Given the description of an element on the screen output the (x, y) to click on. 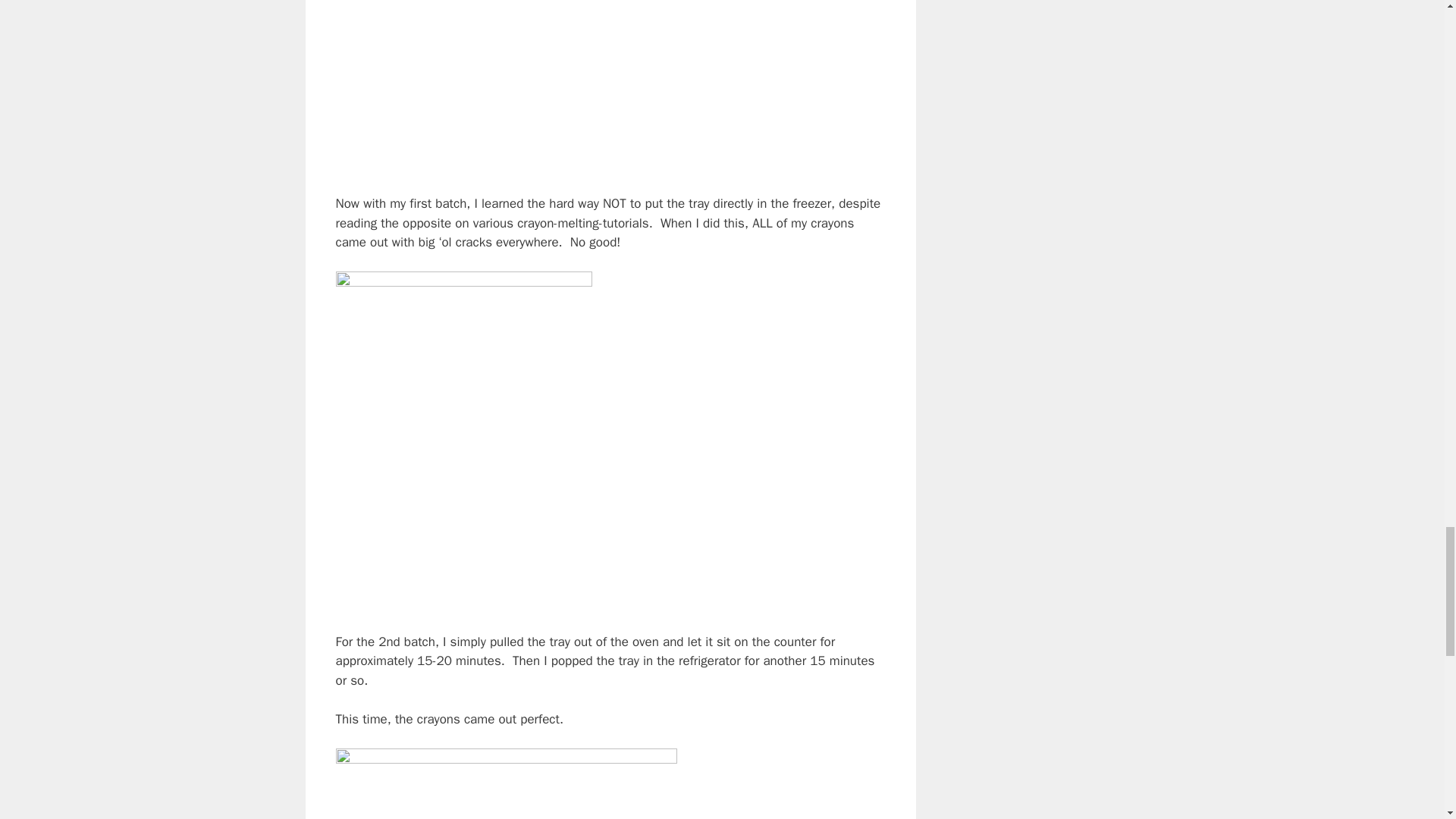
Olympics Crayons TCL a (505, 783)
melted crayons TCL (505, 87)
